Given the description of an element on the screen output the (x, y) to click on. 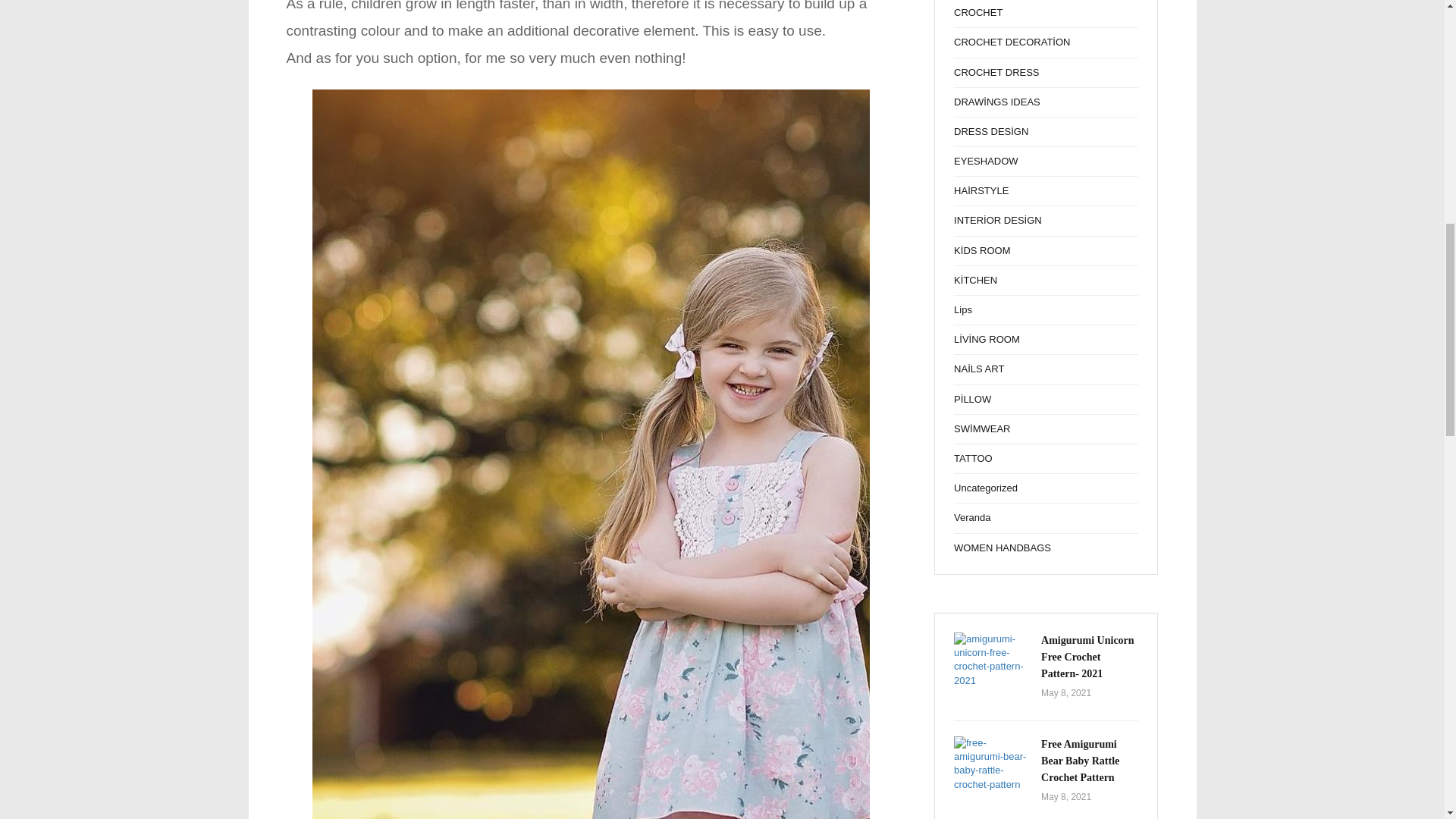
Amigurumi Unicorn Free Crochet Pattern- 2021 (1087, 657)
Free Amigurumi Bear Baby Rattle Crochet Pattern (991, 763)
Free Amigurumi Bear Baby Rattle Crochet Pattern (1080, 760)
Amigurumi Unicorn Free Crochet Pattern- 2021 (991, 659)
